Given the description of an element on the screen output the (x, y) to click on. 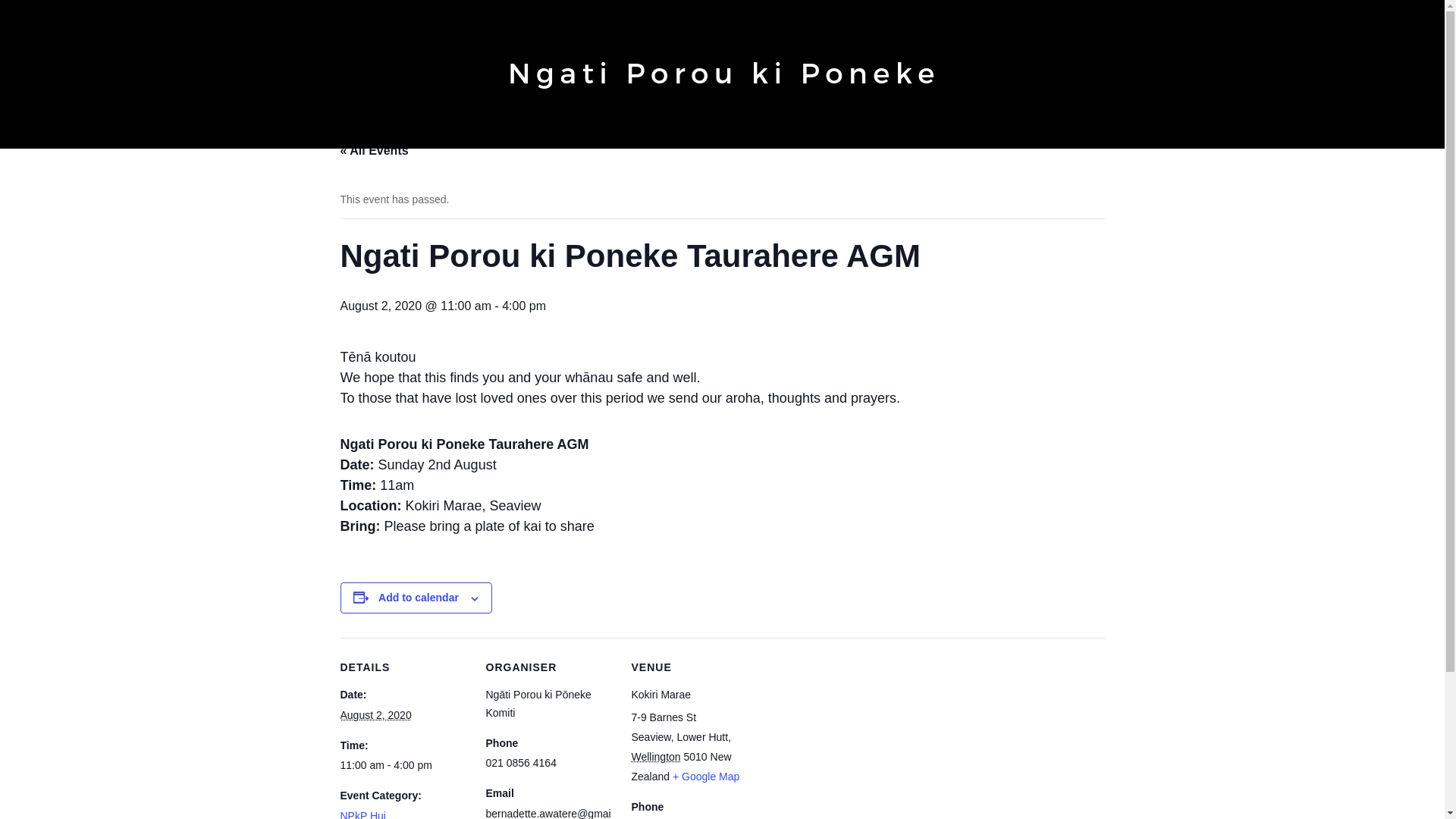
Wellington (654, 756)
Events (656, 132)
About Us (593, 132)
Add to calendar (418, 597)
NPkP Hui (362, 814)
Click to view a Google Map (705, 776)
2020-08-02 (374, 715)
Our Waiata (759, 132)
Contact Us (898, 132)
2020-08-02 (403, 765)
